Given the description of an element on the screen output the (x, y) to click on. 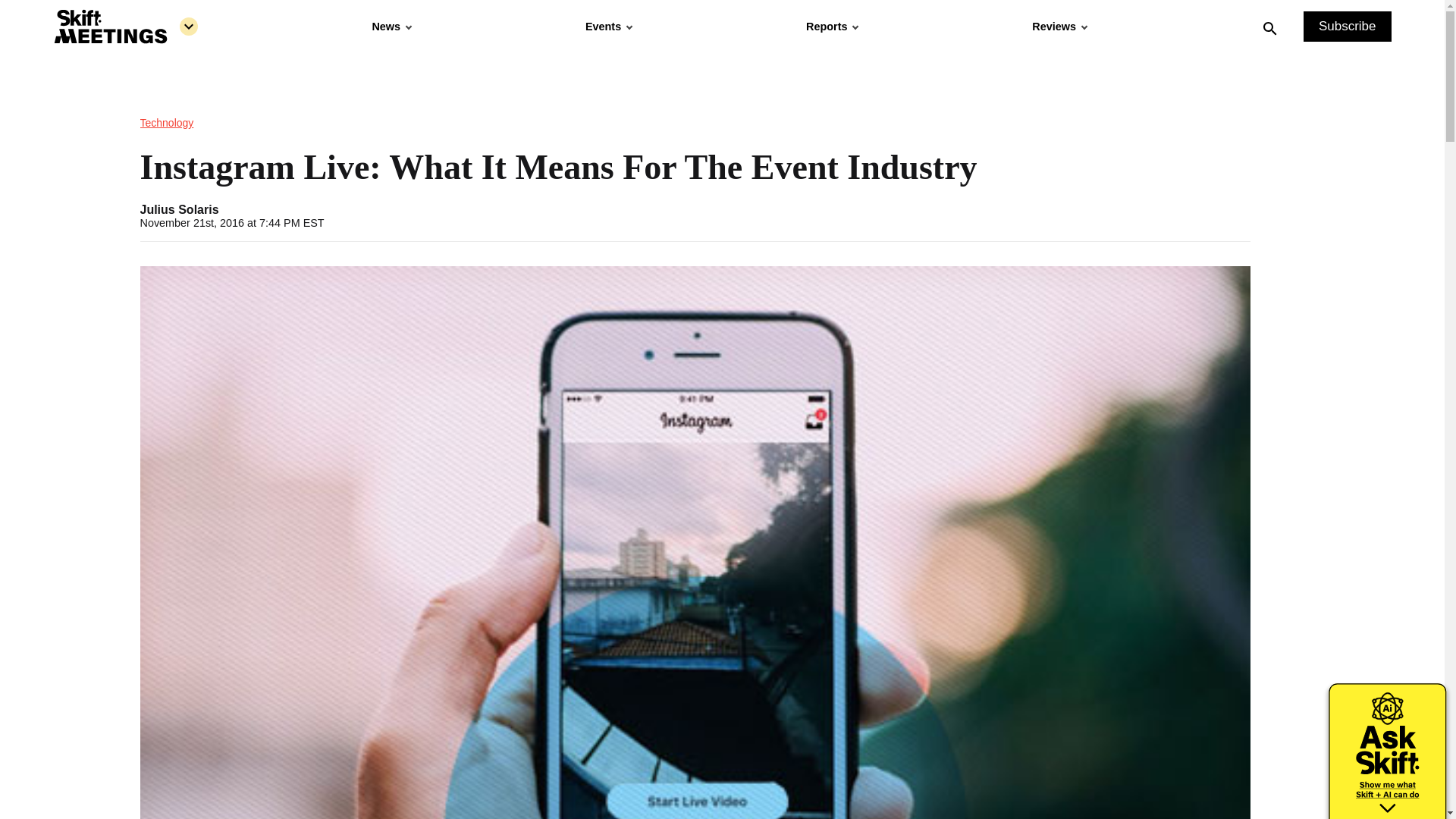
Reviews (1059, 26)
Subscribe (1347, 26)
Reports (831, 26)
